Given the description of an element on the screen output the (x, y) to click on. 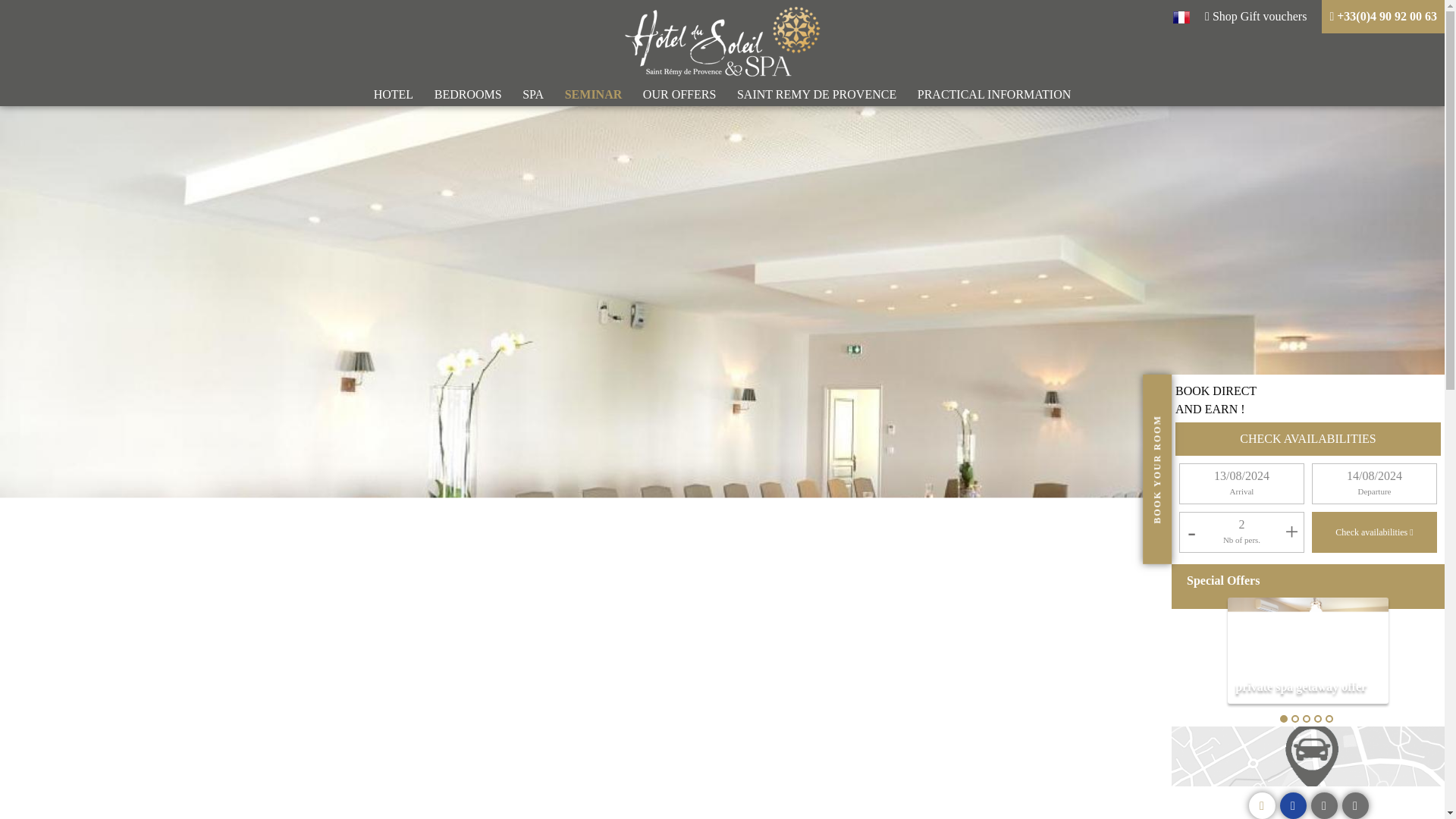
2 (1241, 522)
SPA (532, 94)
OUR OFFERS (679, 94)
Shop Gift vouchers (1255, 16)
private spa getaway offer (1307, 650)
BEDROOMS (468, 94)
CHECK AVAILABILITIES (1307, 438)
SAINT REMY DE PROVENCE (815, 94)
Shop Gift vouchers (1255, 16)
SEMINAR (592, 94)
